Given the description of an element on the screen output the (x, y) to click on. 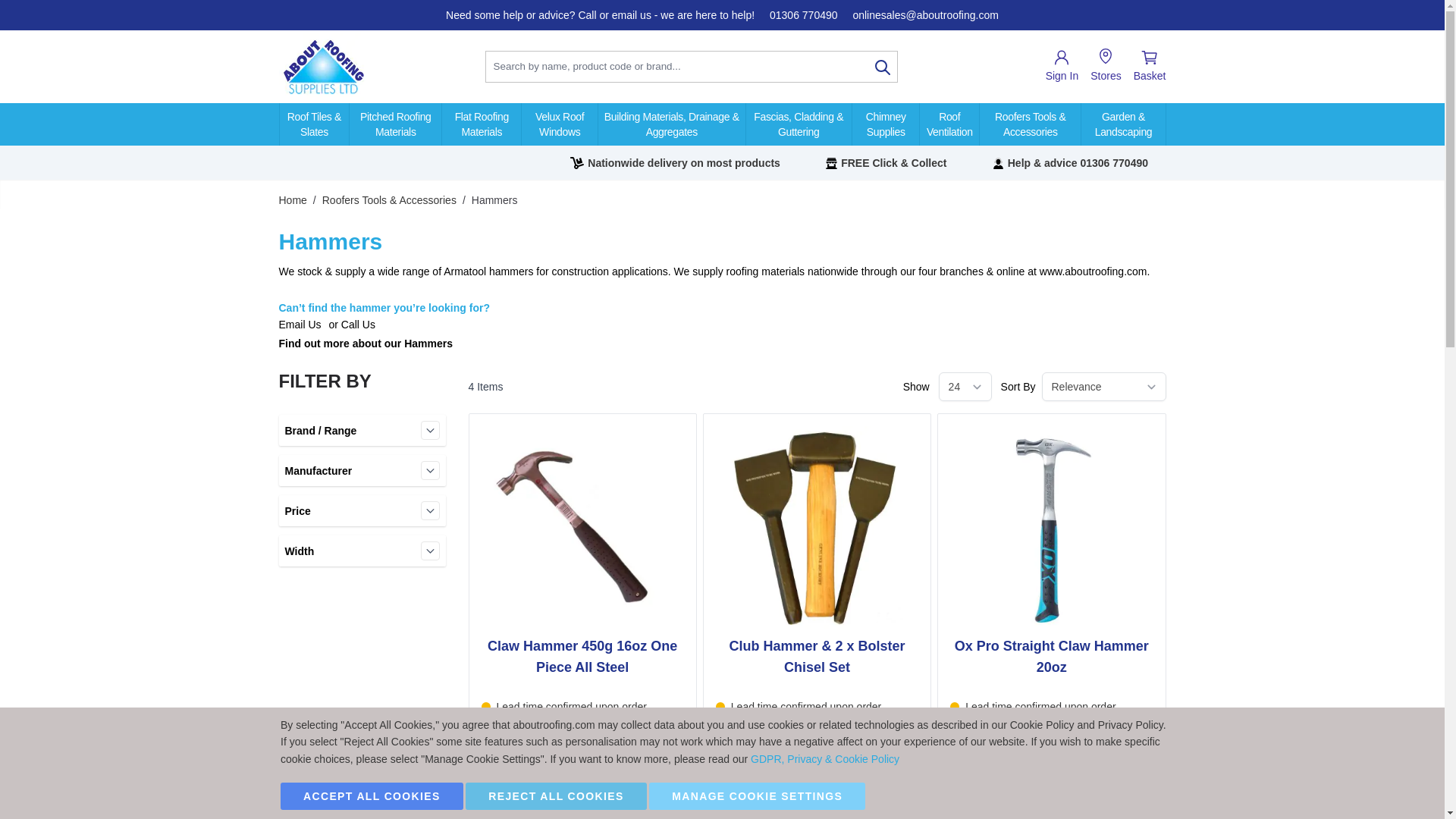
Search (882, 67)
About Roofing Supplies (323, 66)
01306 770490 (804, 15)
Sign In (1061, 66)
Basket (1150, 66)
